Given the description of an element on the screen output the (x, y) to click on. 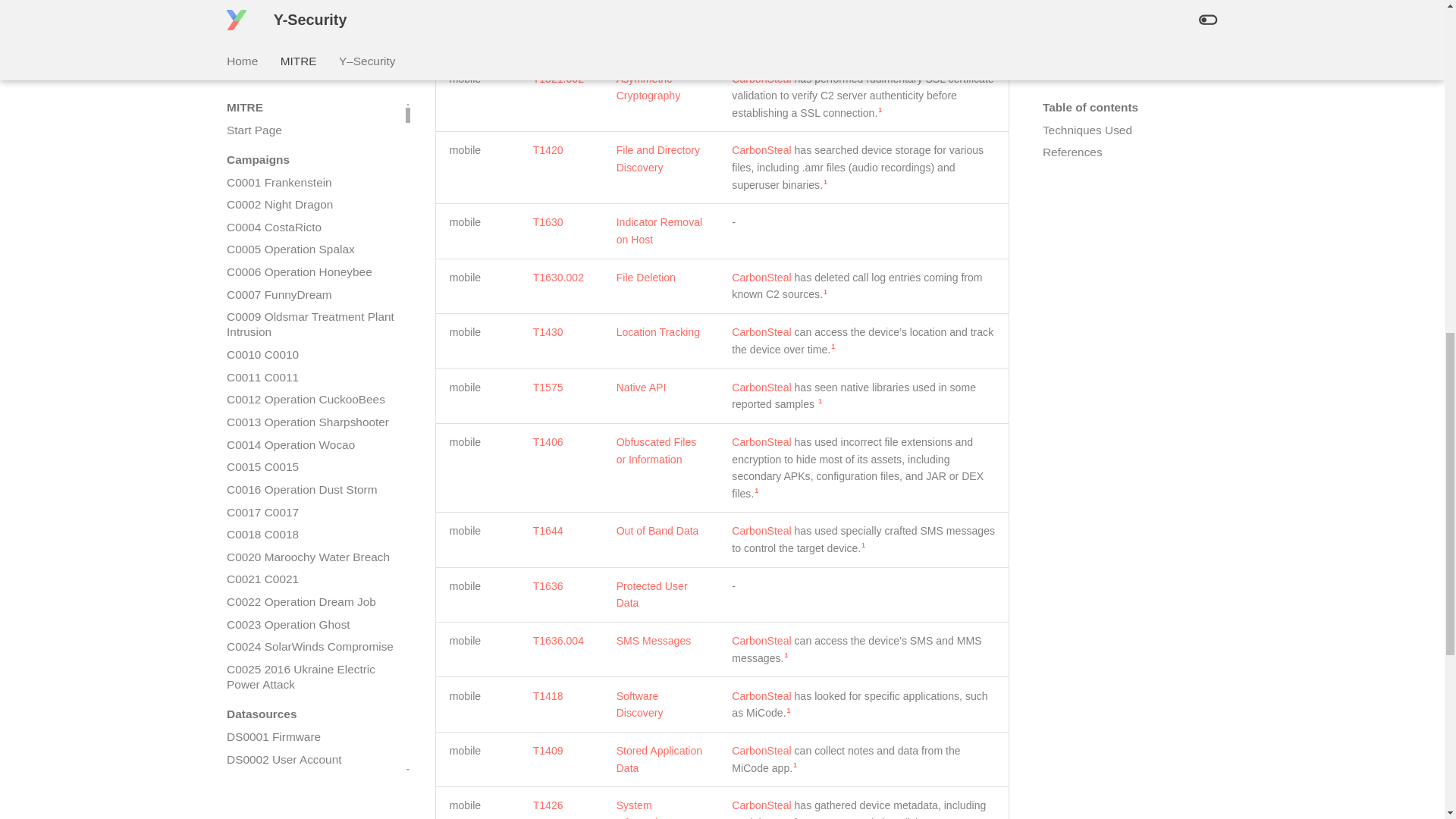
DS0008 Kernel (310, 99)
DS0005 WMI (310, 32)
DS0009 Process (310, 122)
DS0010 Cloud Storage (310, 145)
DS0007 Image (310, 77)
DS0006 Web Credential (310, 55)
DS0004 Malware Repository (310, 10)
